Given the description of an element on the screen output the (x, y) to click on. 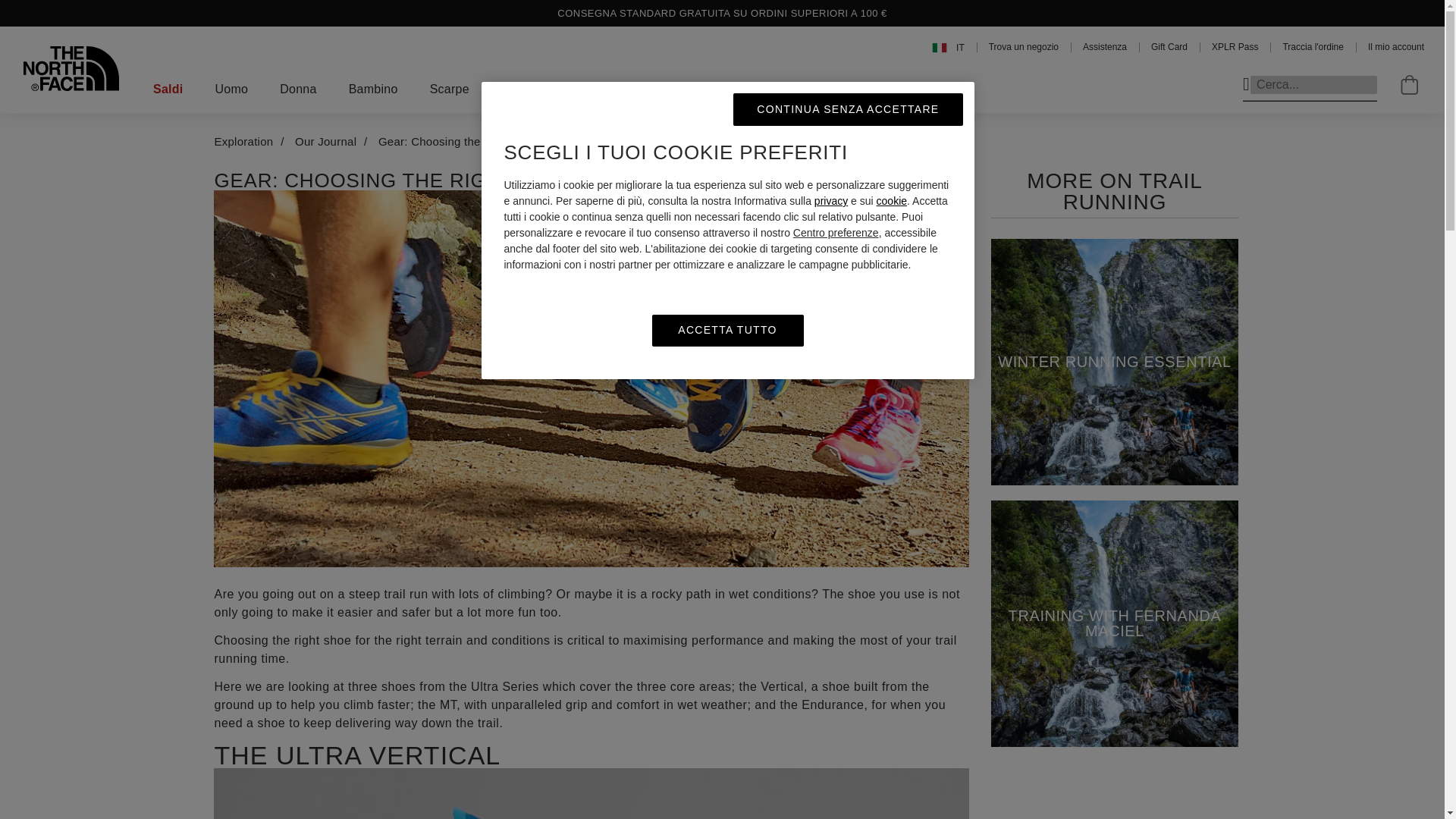
Assistenza (1104, 46)
Assistenza (1104, 46)
Traccia l'ordine (1312, 46)
Saldi (168, 89)
The North Face (71, 68)
Il mio account (1395, 46)
Uomo (231, 89)
Saldi (168, 89)
Uomo (231, 89)
XPLR Pass (1234, 46)
XPLR Pass (1234, 46)
Gift Card (1169, 46)
Trova un negozio (1023, 46)
Gift Card (1169, 46)
Traccia l'ordine (1312, 46)
